Given the description of an element on the screen output the (x, y) to click on. 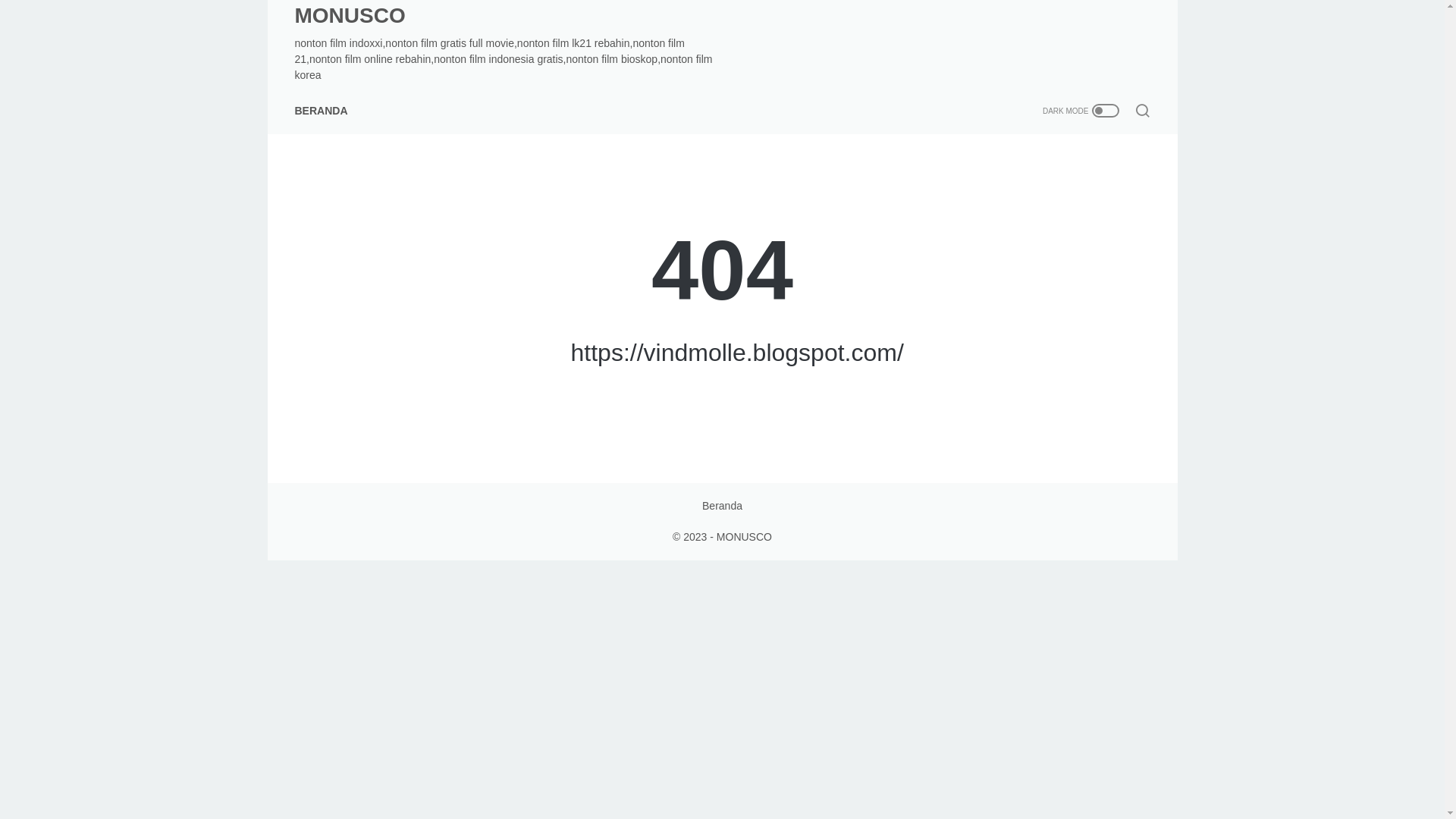
MONUSCO (743, 536)
MONUSCO (349, 15)
BERANDA (320, 110)
Beranda (721, 505)
MONUSCO (349, 15)
